Given the description of an element on the screen output the (x, y) to click on. 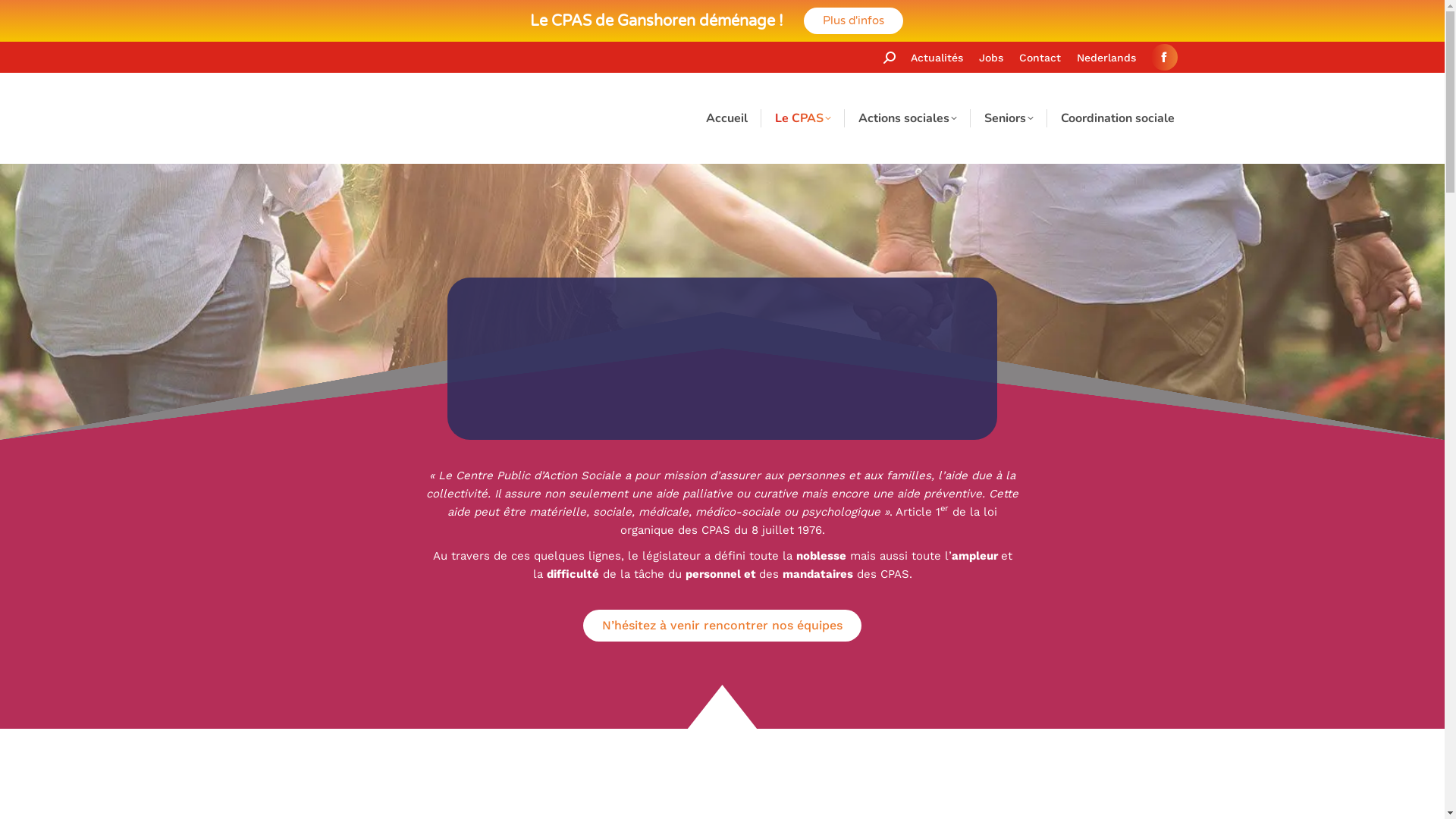
Jobs Element type: text (990, 57)
Coordination sociale Element type: text (1116, 118)
Plus d'infos Element type: text (853, 20)
Aller ! Element type: text (38, 17)
Seniors Element type: text (1008, 118)
Le CPAS Element type: text (802, 118)
Contact Element type: text (1039, 57)
Nederlands Element type: text (1105, 57)
Accueil Element type: text (725, 118)
Actions sociales Element type: text (907, 118)
